Given the description of an element on the screen output the (x, y) to click on. 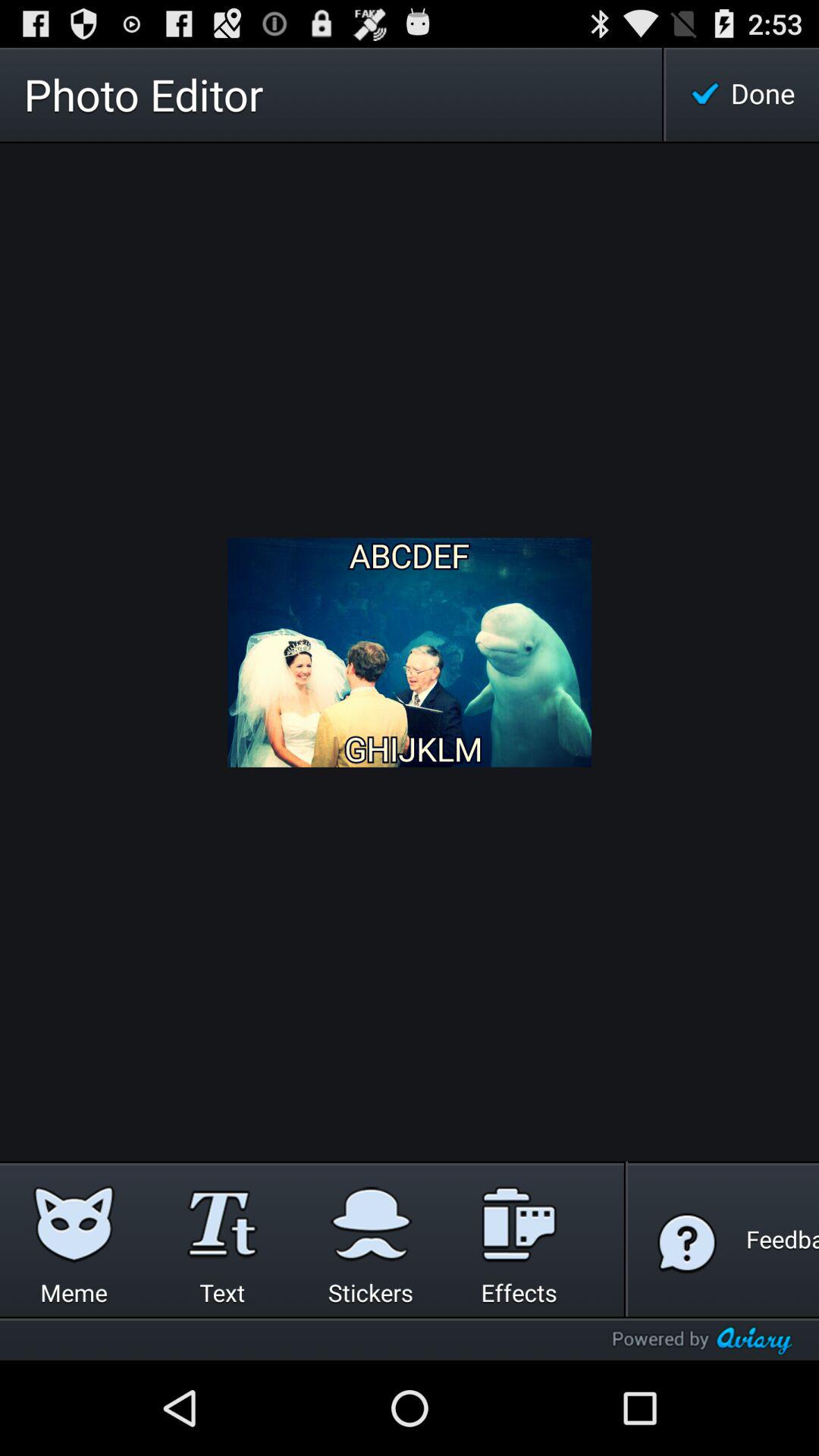
turn off the done icon (742, 93)
